Given the description of an element on the screen output the (x, y) to click on. 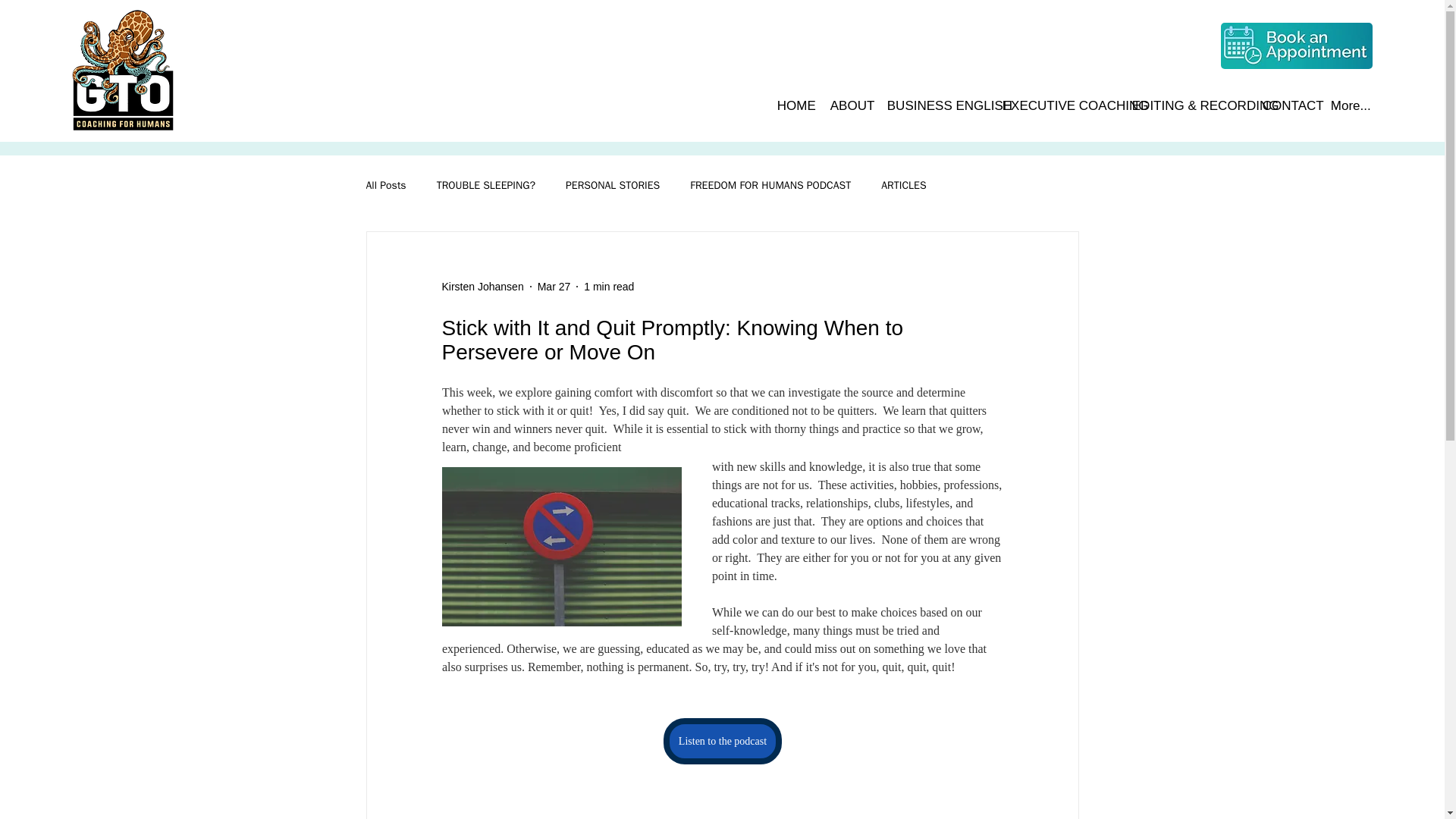
ABOUT (847, 105)
EXECUTIVE COACHING (1056, 105)
1 min read (608, 286)
Kirsten Johansen (481, 286)
TROUBLE SLEEPING? (485, 185)
CONTACT (1284, 105)
Kirsten Johansen (481, 286)
HOME (791, 105)
Mar 27 (553, 286)
BUSINESS ENGLISH (933, 105)
ARTICLES (903, 185)
FREEDOM FOR HUMANS PODCAST (770, 185)
PERSONAL STORIES (612, 185)
Listen to the podcast (721, 741)
All Posts (385, 185)
